Given the description of an element on the screen output the (x, y) to click on. 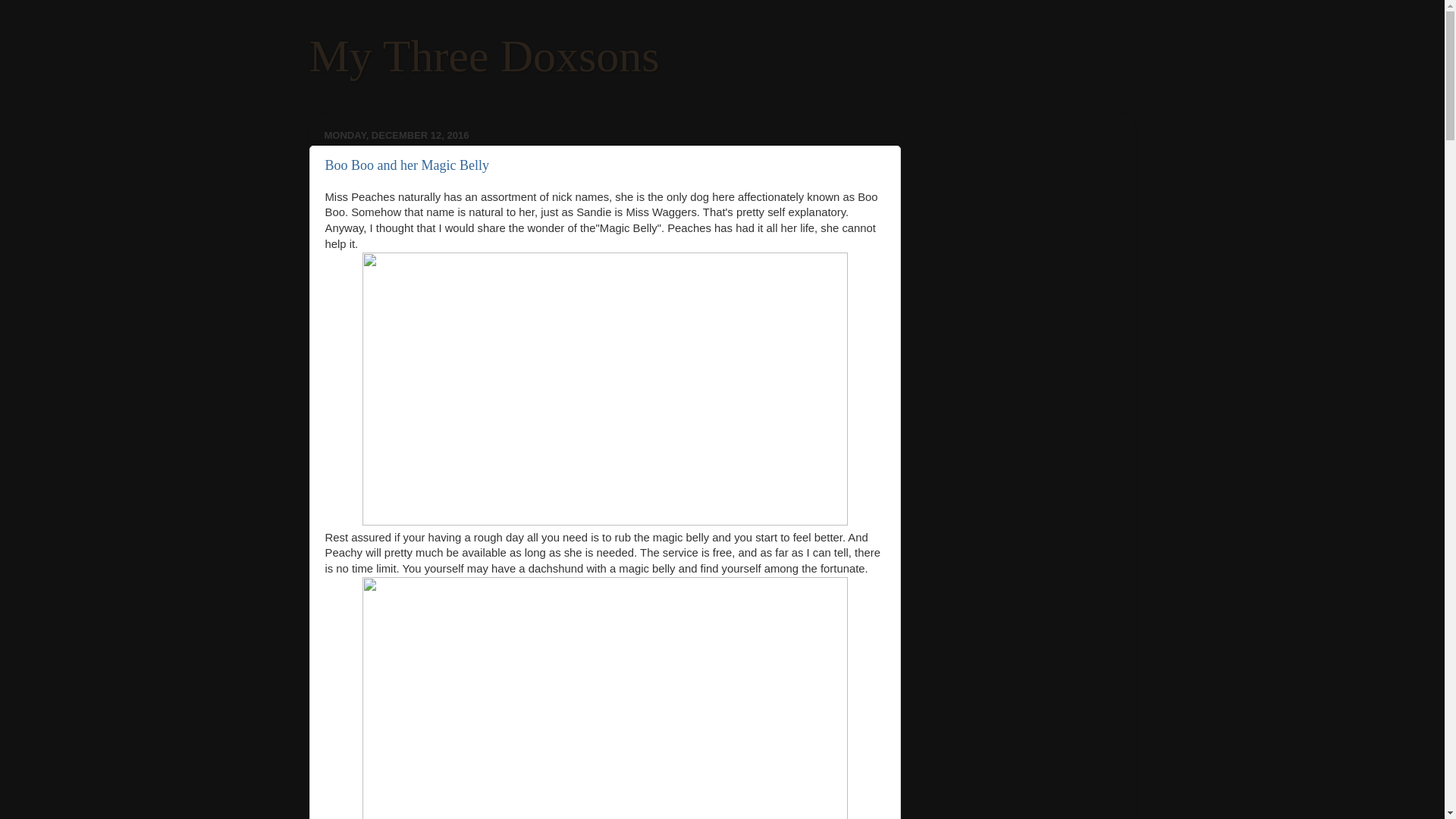
My Three Doxsons (483, 56)
Boo Boo and her Magic Belly (405, 165)
